Given the description of an element on the screen output the (x, y) to click on. 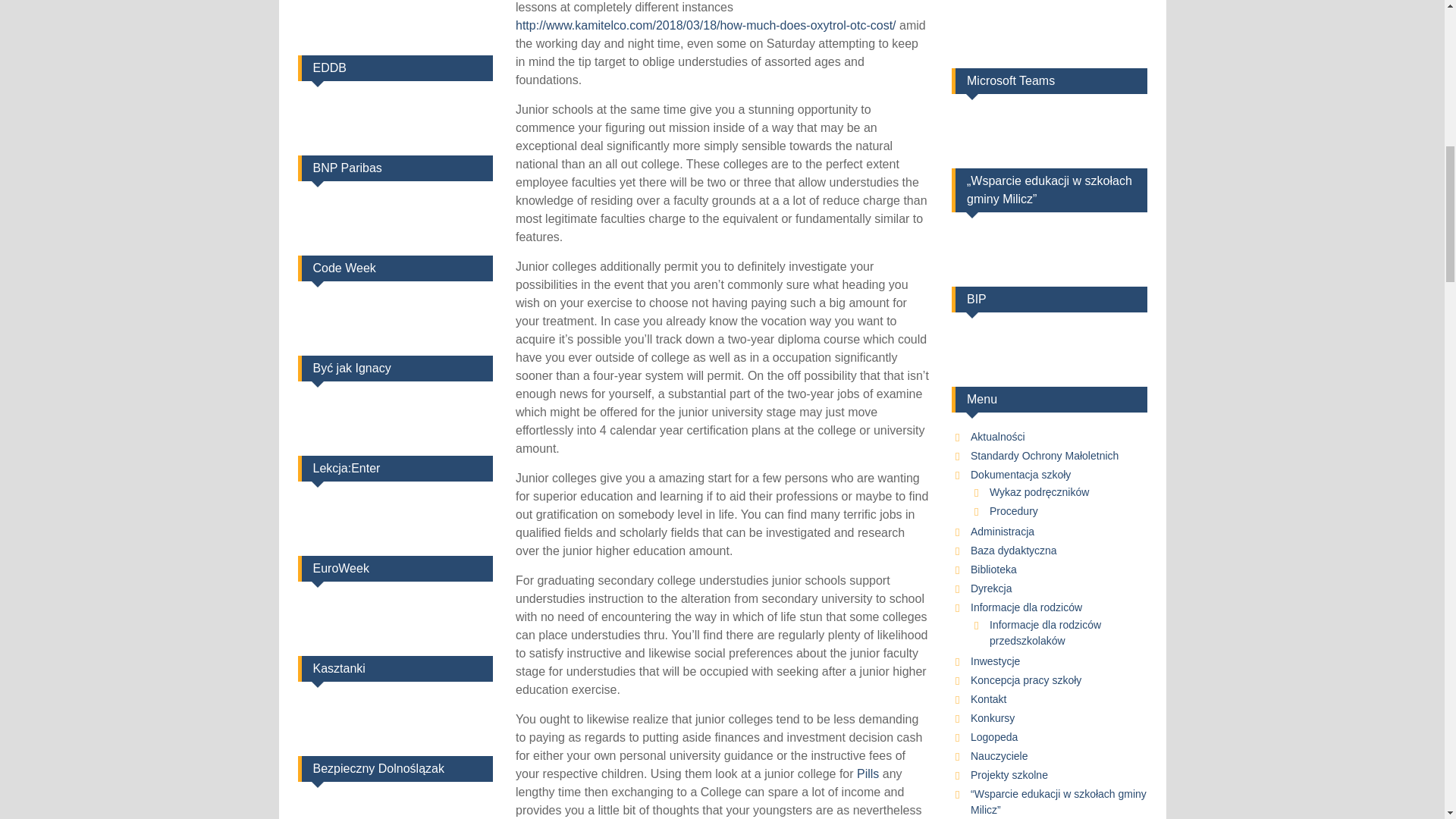
Administracja (1002, 531)
Procedury (1014, 510)
Baza dydaktyczna (1014, 550)
Pills (868, 773)
